Given the description of an element on the screen output the (x, y) to click on. 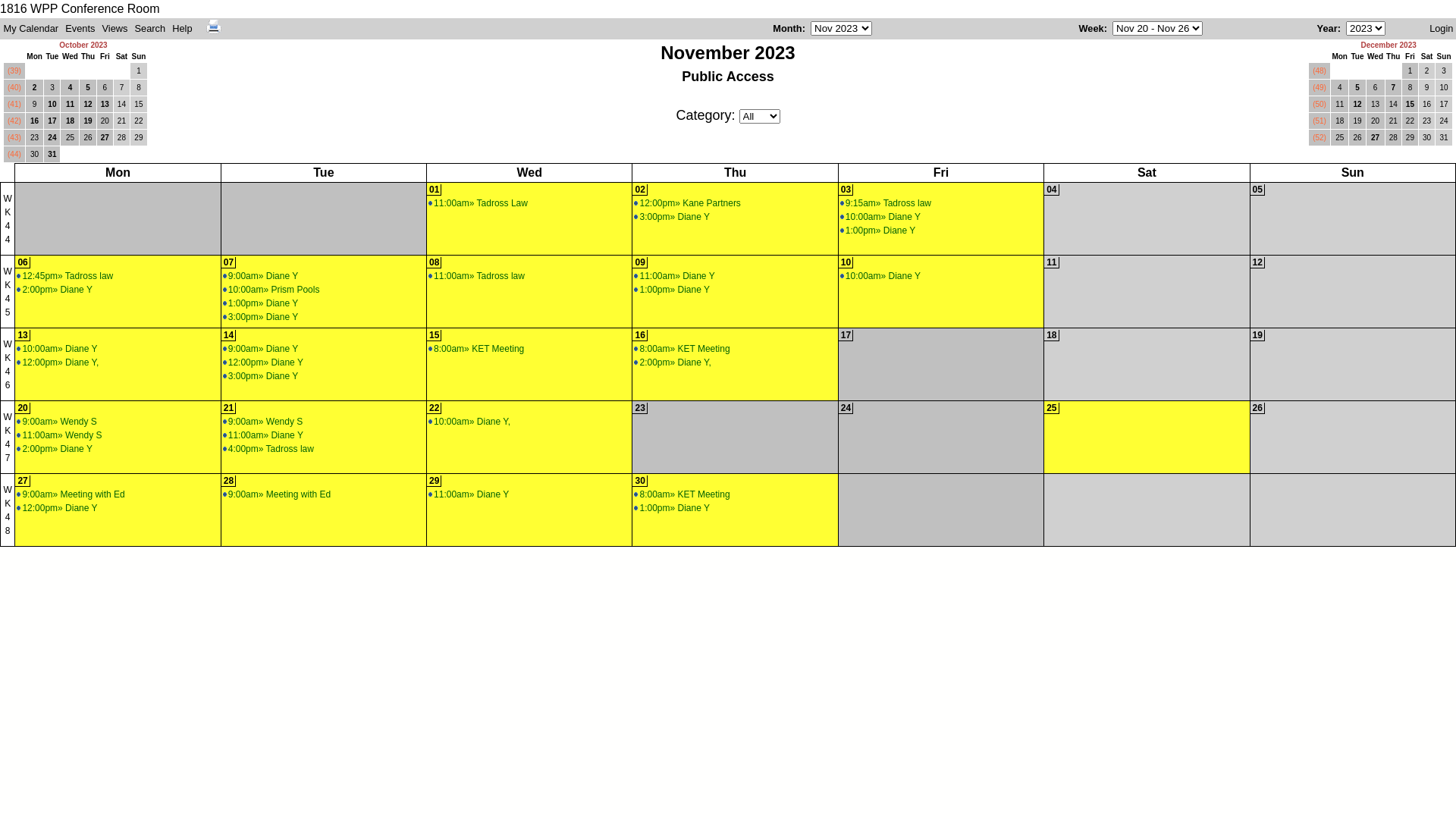
6 Element type: text (104, 87)
1 Element type: text (138, 70)
14 Element type: text (1392, 104)
W
K
4
7 Element type: text (7, 437)
06 Element type: text (22, 262)
17 Element type: text (1443, 104)
18 Element type: text (69, 120)
23 Element type: text (1426, 120)
28 Element type: text (1392, 137)
09 Element type: text (639, 262)
4 Element type: text (1339, 87)
19 Element type: text (1257, 335)
3 Element type: text (1443, 70)
4 Element type: text (69, 87)
(39) Element type: text (14, 70)
28 Element type: text (228, 480)
10 Element type: text (1443, 87)
(40) Element type: text (14, 87)
Year Element type: text (1327, 28)
17 Element type: text (845, 335)
04 Element type: text (1051, 189)
02 Element type: text (639, 189)
Week Element type: text (1090, 28)
13 Element type: text (104, 104)
W
K
4
4 Element type: text (7, 218)
30 Element type: text (639, 480)
12 Element type: text (1257, 262)
18 Element type: text (1339, 120)
21 Element type: text (121, 120)
31 Element type: text (51, 154)
W
K
4
8 Element type: text (7, 510)
22 Element type: text (433, 408)
12 Element type: text (87, 104)
6 Element type: text (1375, 87)
01 Element type: text (433, 189)
7 Element type: text (121, 87)
03 Element type: text (845, 189)
W
K
4
6 Element type: text (7, 364)
26 Element type: text (87, 137)
27 Element type: text (1375, 137)
13 Element type: text (22, 335)
18 Element type: text (1051, 335)
07 Element type: text (228, 262)
28 Element type: text (121, 137)
(49) Element type: text (1319, 87)
15 Element type: text (433, 335)
26 Element type: text (1356, 137)
12 Element type: text (1356, 104)
W
K
4
5 Element type: text (7, 291)
14 Element type: text (121, 104)
24 Element type: text (845, 408)
14 Element type: text (228, 335)
05 Element type: text (1257, 189)
(52) Element type: text (1319, 137)
27 Element type: text (22, 480)
29 Element type: text (138, 137)
26 Element type: text (1257, 408)
(51) Element type: text (1319, 120)
23 Element type: text (639, 408)
08 Element type: text (433, 262)
20 Element type: text (1375, 120)
31 Element type: text (1443, 137)
1 Element type: text (1409, 70)
2 Element type: text (1426, 70)
29 Element type: text (1409, 137)
(42) Element type: text (14, 120)
30 Element type: text (34, 154)
8 Element type: text (1409, 87)
2 Element type: text (34, 87)
7 Element type: text (1392, 87)
(44) Element type: text (14, 154)
10 Element type: text (51, 104)
21 Element type: text (228, 408)
Month Element type: text (786, 28)
11 Element type: text (69, 104)
19 Element type: text (1356, 120)
16 Element type: text (34, 120)
11 Element type: text (1051, 262)
22 Element type: text (138, 120)
21 Element type: text (1392, 120)
19 Element type: text (87, 120)
20 Element type: text (22, 408)
(48) Element type: text (1319, 70)
25 Element type: text (69, 137)
15 Element type: text (138, 104)
9 Element type: text (1426, 87)
5 Element type: text (1356, 87)
13 Element type: text (1375, 104)
25 Element type: text (1051, 408)
27 Element type: text (104, 137)
23 Element type: text (34, 137)
15 Element type: text (1409, 104)
24 Element type: text (51, 137)
December 2023 Element type: text (1387, 44)
25 Element type: text (1339, 137)
October 2023 Element type: text (82, 44)
11 Element type: text (1339, 104)
20 Element type: text (104, 120)
10 Element type: text (845, 262)
(41) Element type: text (14, 104)
Search Element type: text (207, 50)
24 Element type: text (1443, 120)
30 Element type: text (1426, 137)
16 Element type: text (1426, 104)
3 Element type: text (51, 87)
17 Element type: text (51, 120)
Login Element type: text (1440, 28)
(50) Element type: text (1319, 104)
22 Element type: text (1409, 120)
9 Element type: text (34, 104)
8 Element type: text (138, 87)
16 Element type: text (639, 335)
29 Element type: text (433, 480)
5 Element type: text (87, 87)
(43) Element type: text (14, 137)
